Given the description of an element on the screen output the (x, y) to click on. 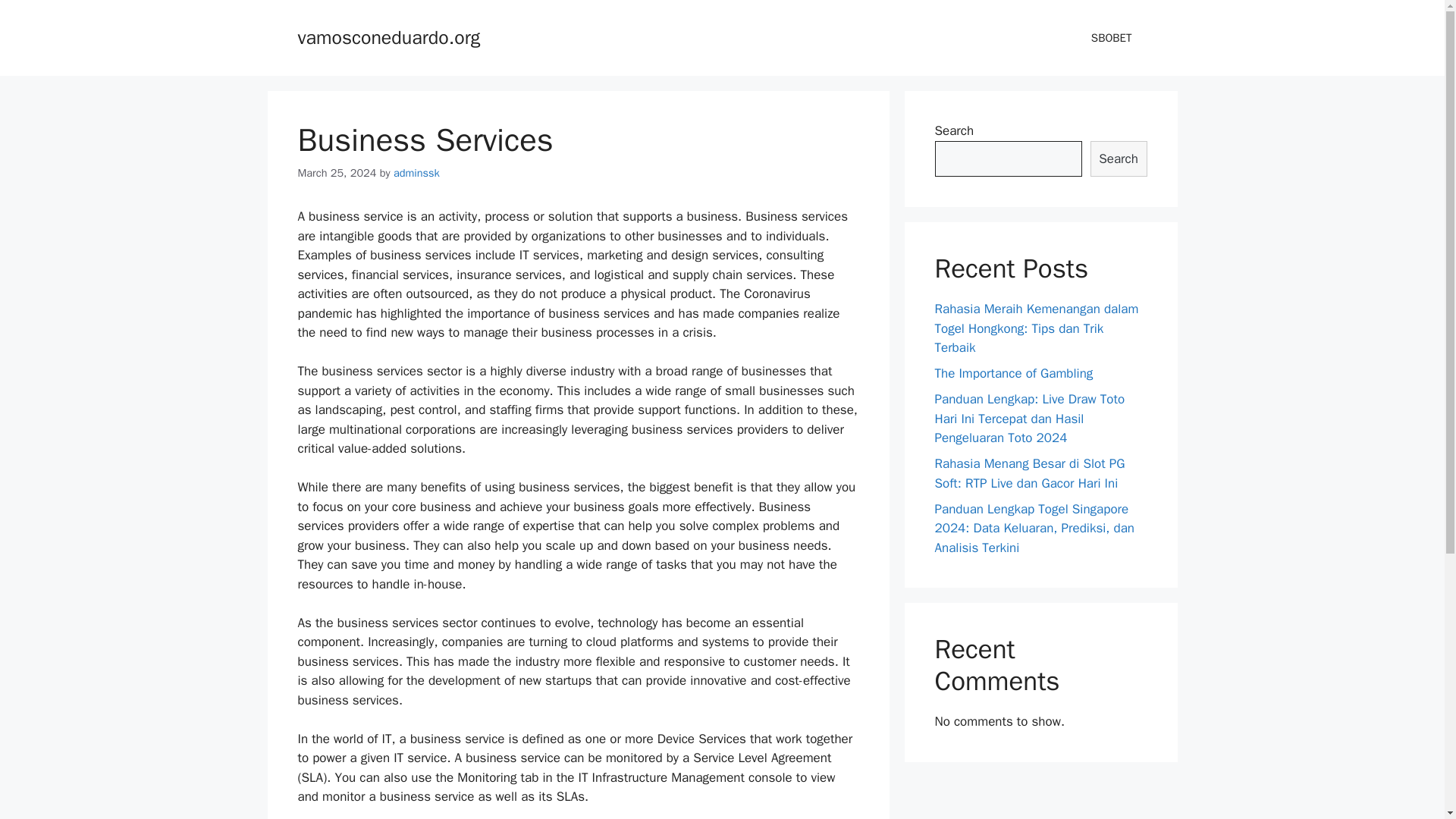
vamosconeduardo.org (388, 37)
The Importance of Gambling (1013, 373)
View all posts by adminssk (416, 172)
SBOBET (1111, 37)
adminssk (416, 172)
Search (1118, 158)
